Given the description of an element on the screen output the (x, y) to click on. 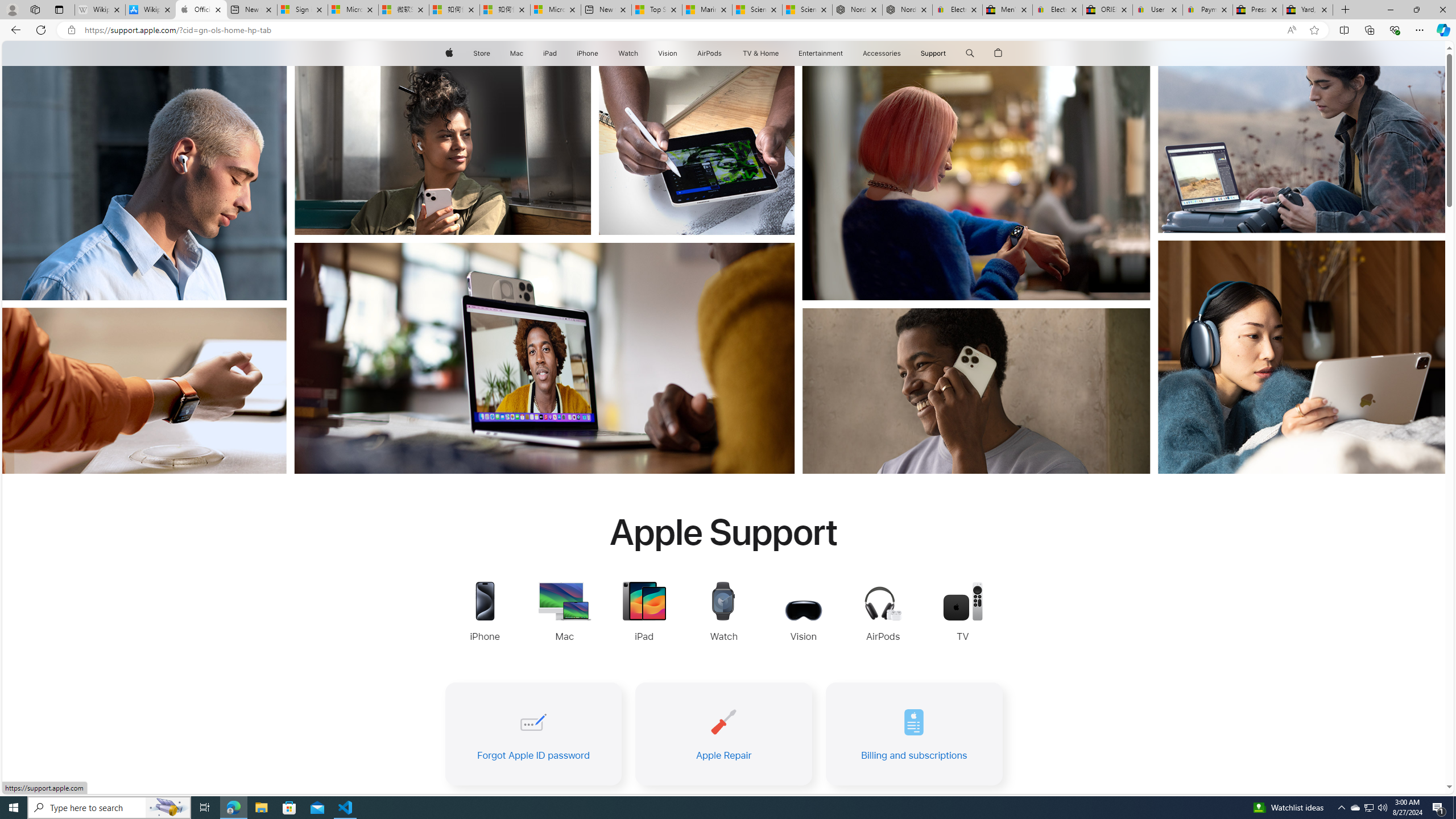
Marine life - MSN (706, 9)
TV and Home (759, 53)
Watch (627, 53)
iPad (550, 53)
Official Apple Support (201, 9)
AutomationID: globalnav-bag (998, 53)
Mac Support (564, 612)
Accessories (881, 53)
Top Stories - MSN (656, 9)
Vision menu (678, 53)
